Given the description of an element on the screen output the (x, y) to click on. 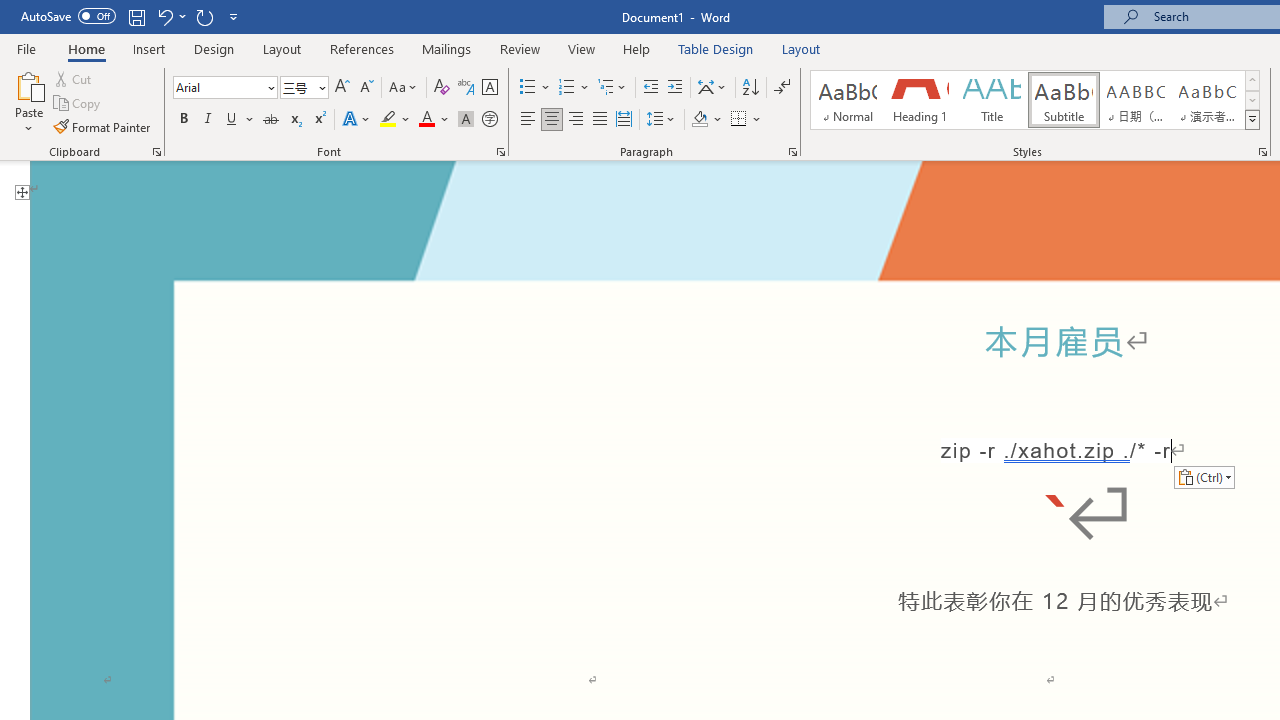
Title (991, 100)
Align Right (575, 119)
Sort... (750, 87)
Row Down (1252, 100)
Multilevel List (613, 87)
Decrease Indent (650, 87)
Bold (183, 119)
Text Effects and Typography (357, 119)
Subtitle (1063, 100)
